Given the description of an element on the screen output the (x, y) to click on. 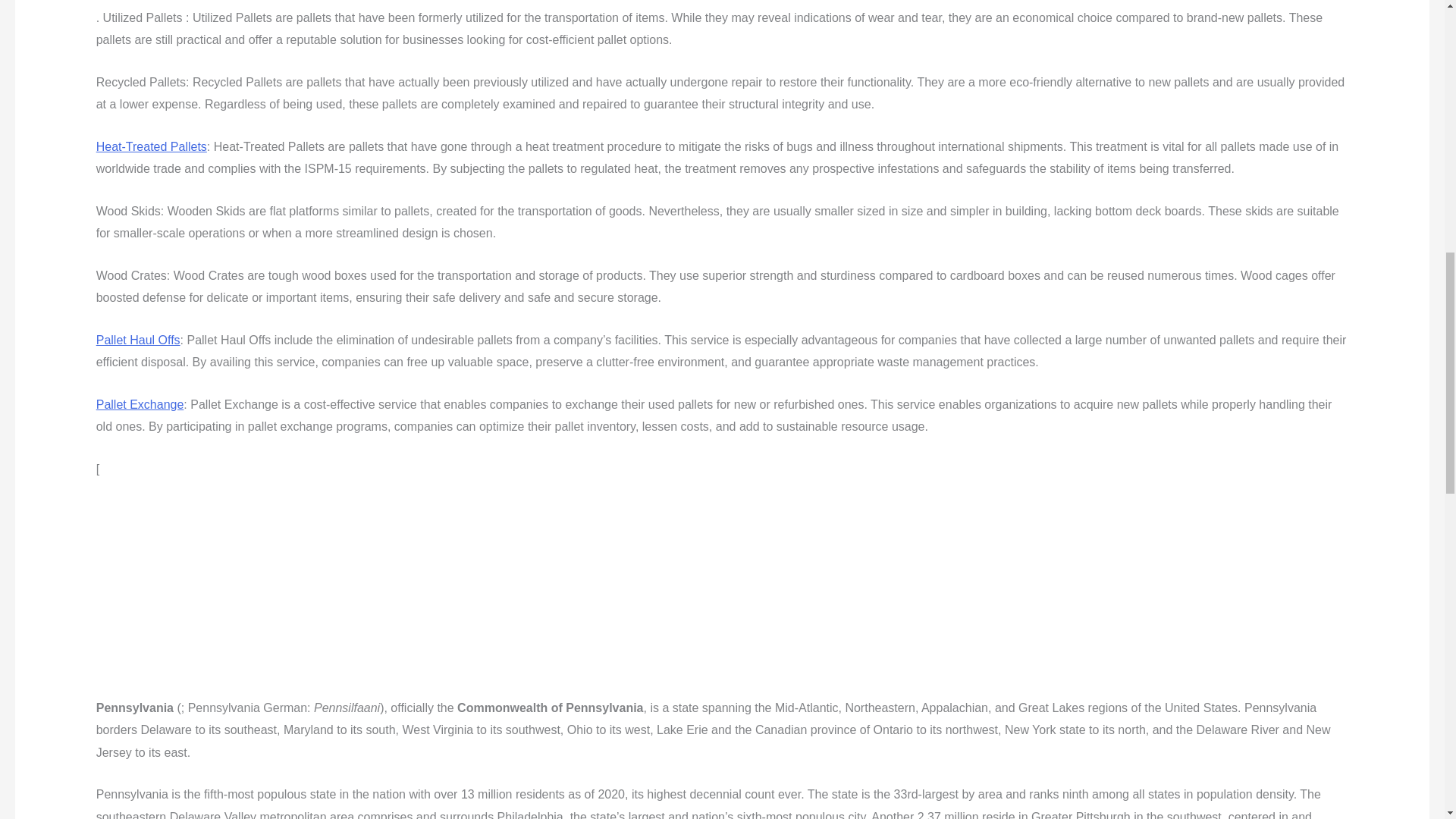
Pallet Exchange (140, 404)
Pallet Haul Offs (138, 339)
Heat-Treated Pallets (151, 146)
